Given the description of an element on the screen output the (x, y) to click on. 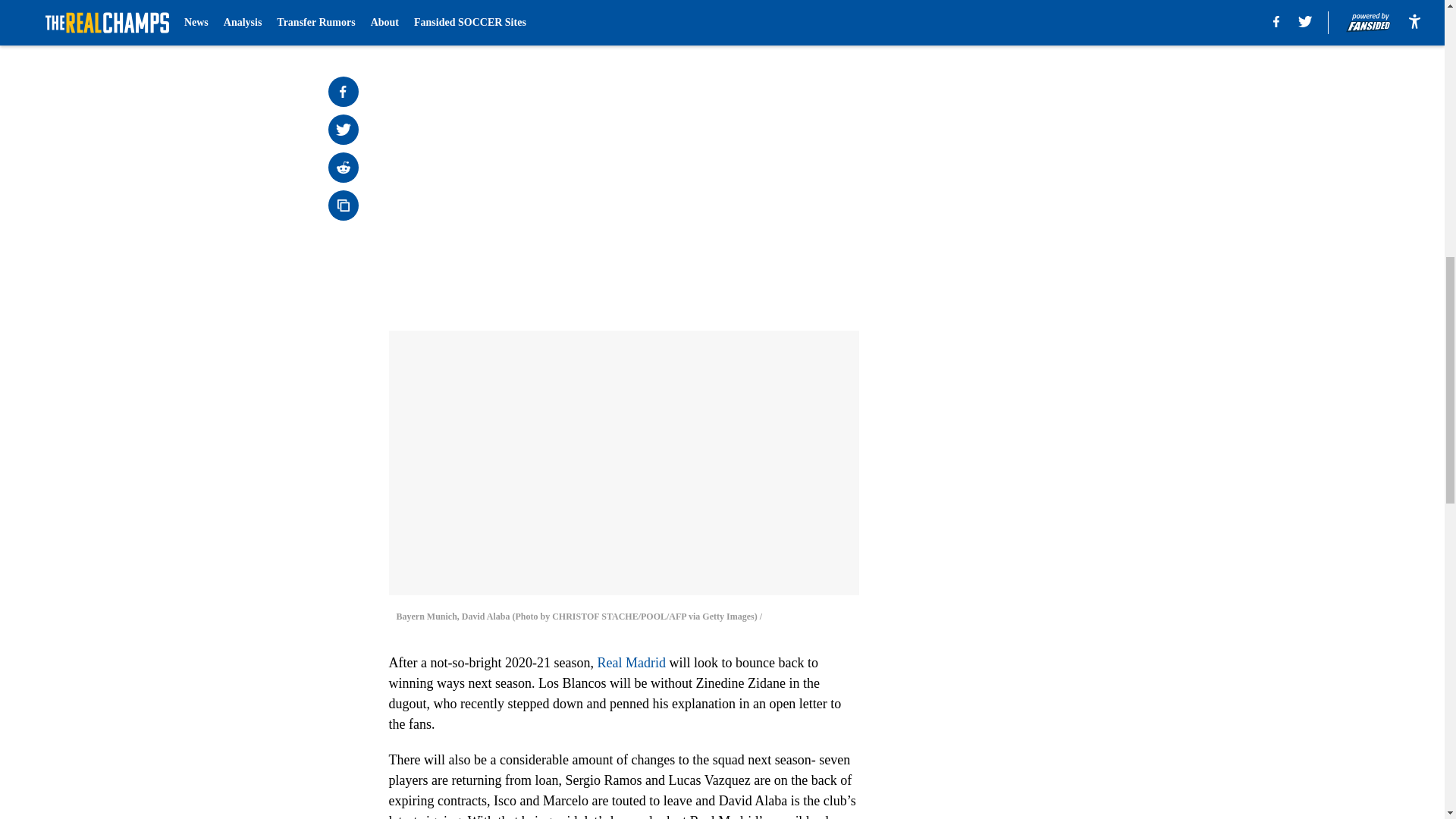
Next (813, 20)
Prev (433, 20)
Real Madrid (630, 662)
